Given the description of an element on the screen output the (x, y) to click on. 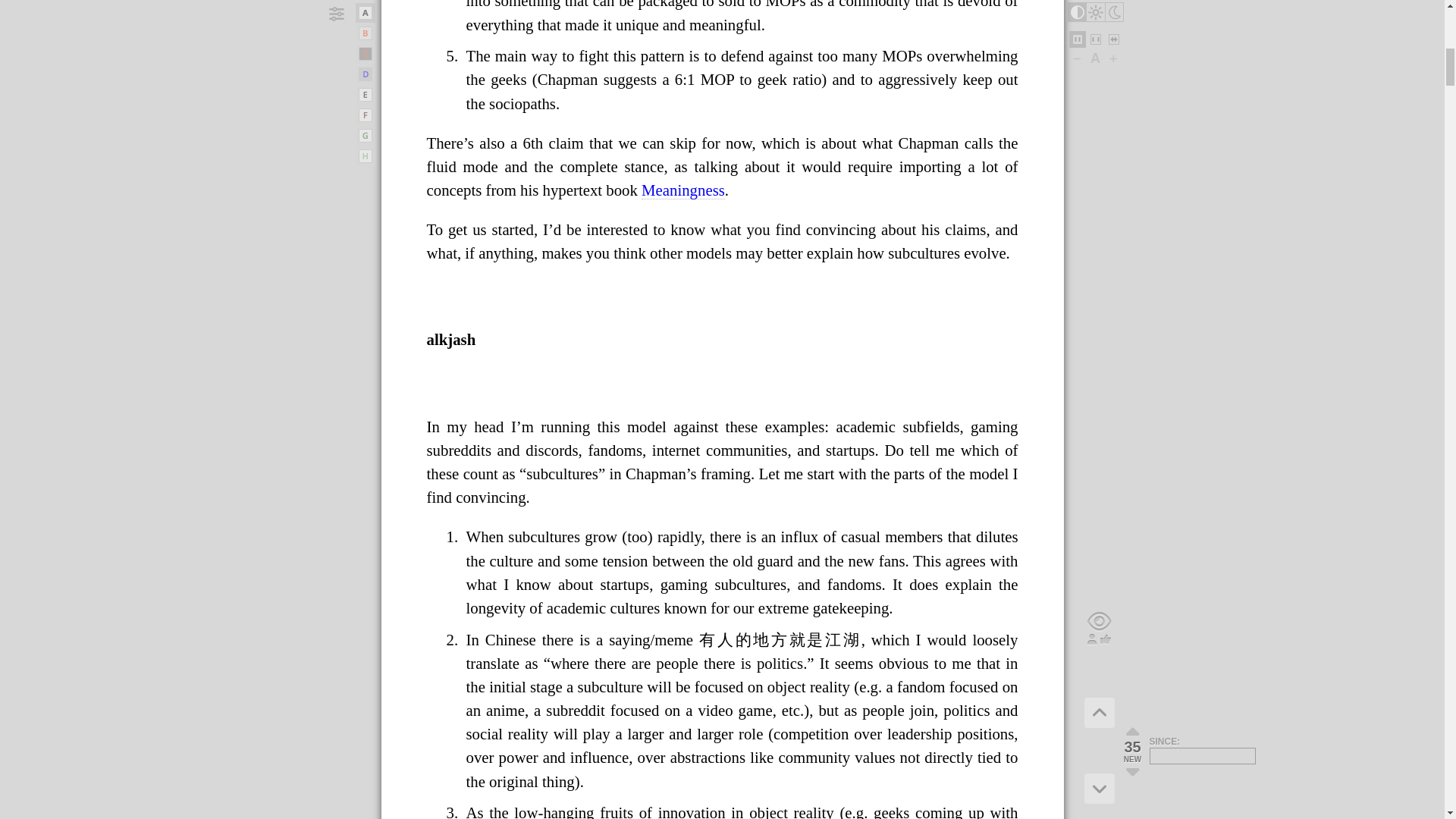
Meaningness (683, 189)
